Given the description of an element on the screen output the (x, y) to click on. 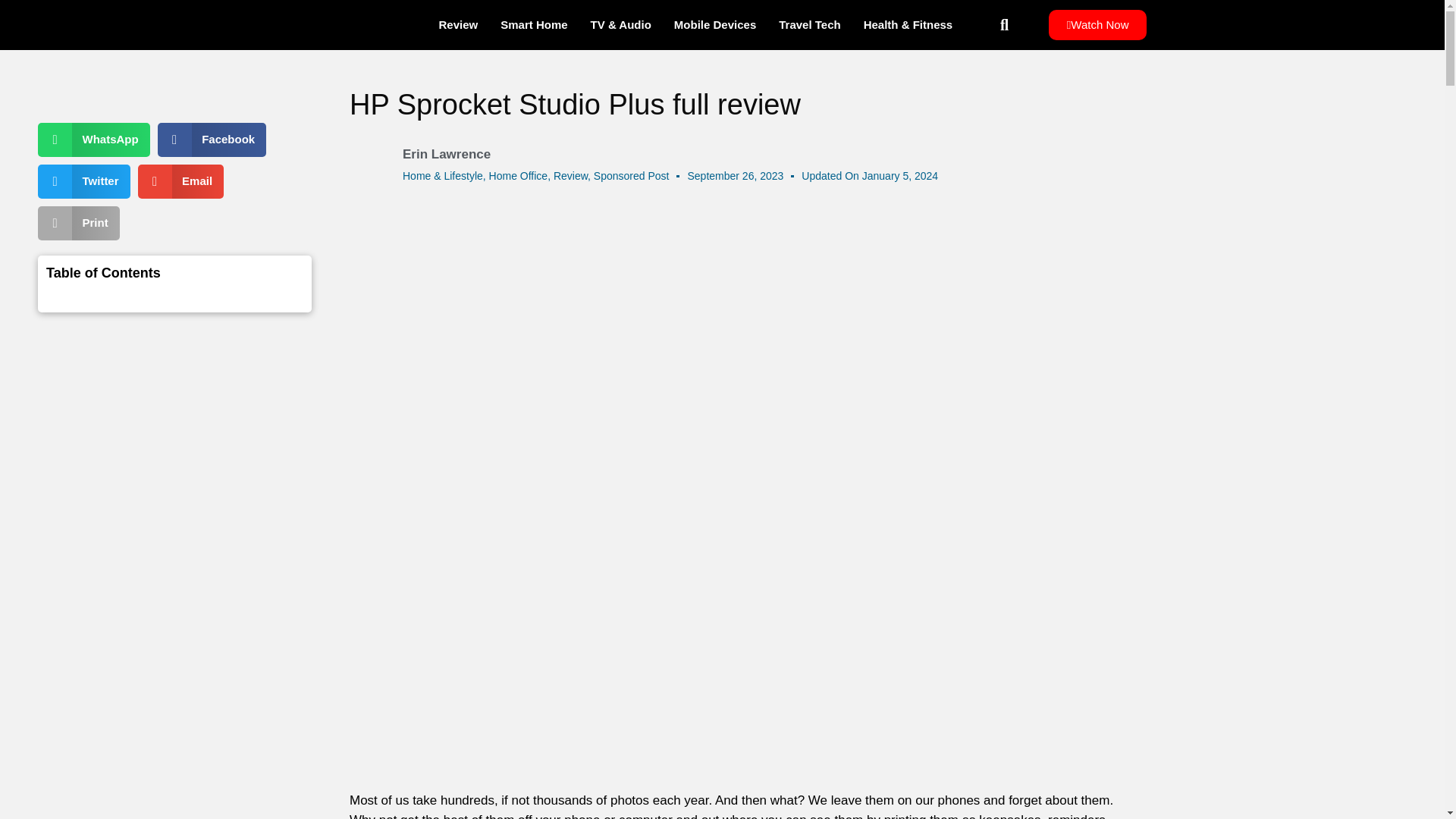
Mobile Devices (714, 24)
September 26, 2023 (735, 176)
Travel Tech (809, 24)
Review (458, 24)
Review (570, 175)
Smart Home (533, 24)
Home Office (518, 175)
Sponsored Post (631, 175)
Watch Now (1097, 24)
